Given the description of an element on the screen output the (x, y) to click on. 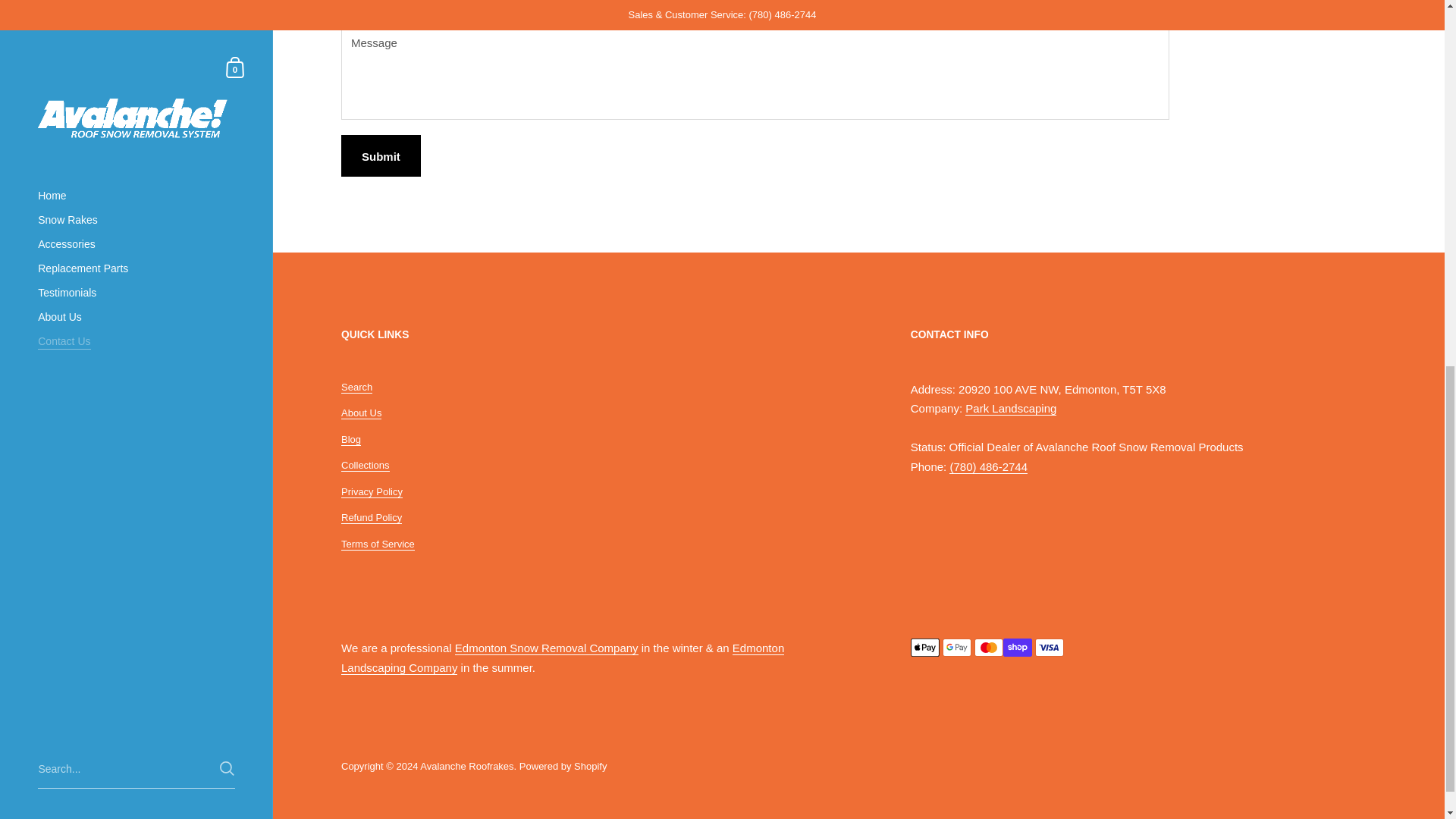
Powered by Shopify (563, 766)
Edmonton Snow Removal Company (546, 648)
Collections (365, 465)
Submit (380, 155)
Refund Policy (370, 517)
Edmonton Landscaping Company (562, 657)
Park Landscaping (1011, 408)
About Us (360, 413)
Search (356, 387)
tel:7804862744 (988, 467)
Avalanche Roofrakes (466, 766)
Privacy Policy (371, 491)
Terms of Service (377, 544)
Blog (350, 439)
